Given the description of an element on the screen output the (x, y) to click on. 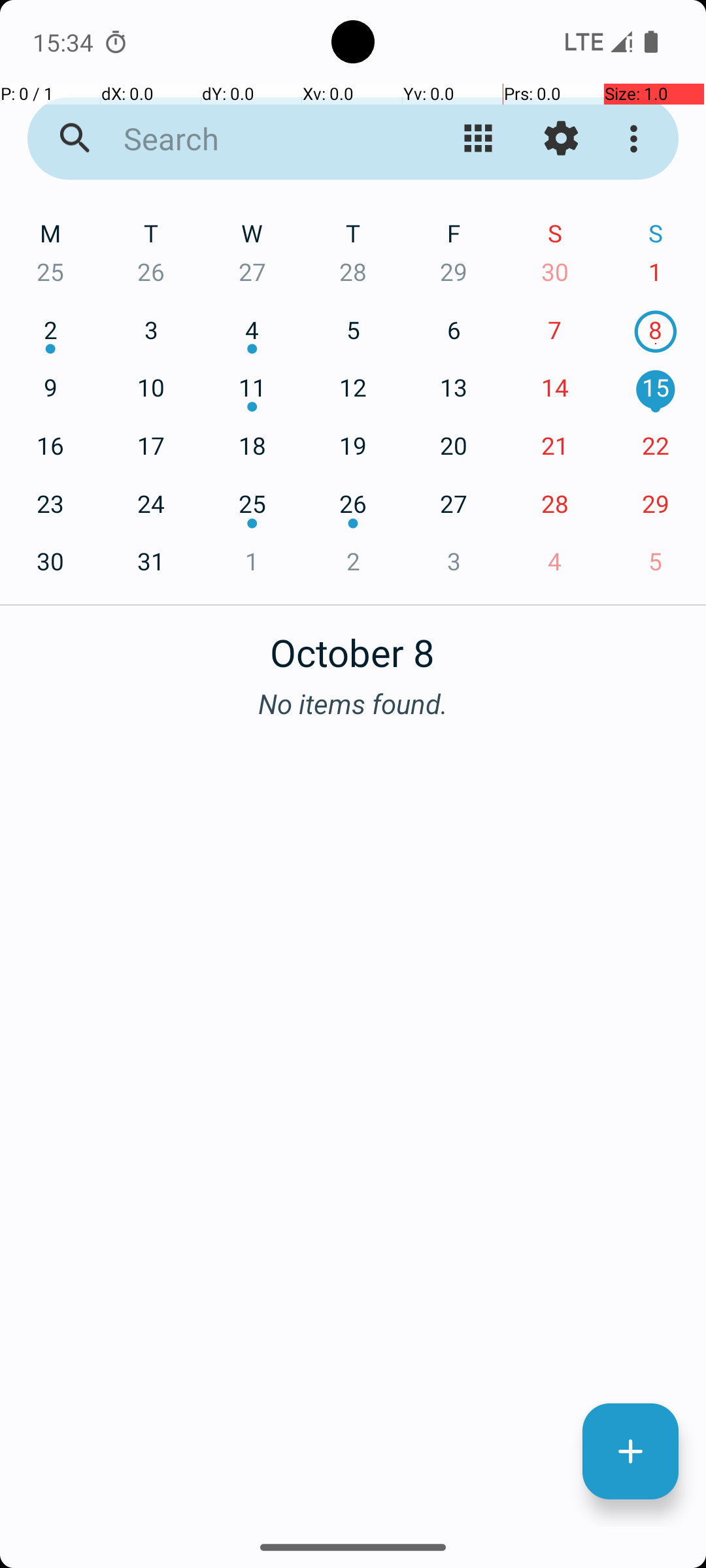
October 8 Element type: android.widget.TextView (352, 644)
